Given the description of an element on the screen output the (x, y) to click on. 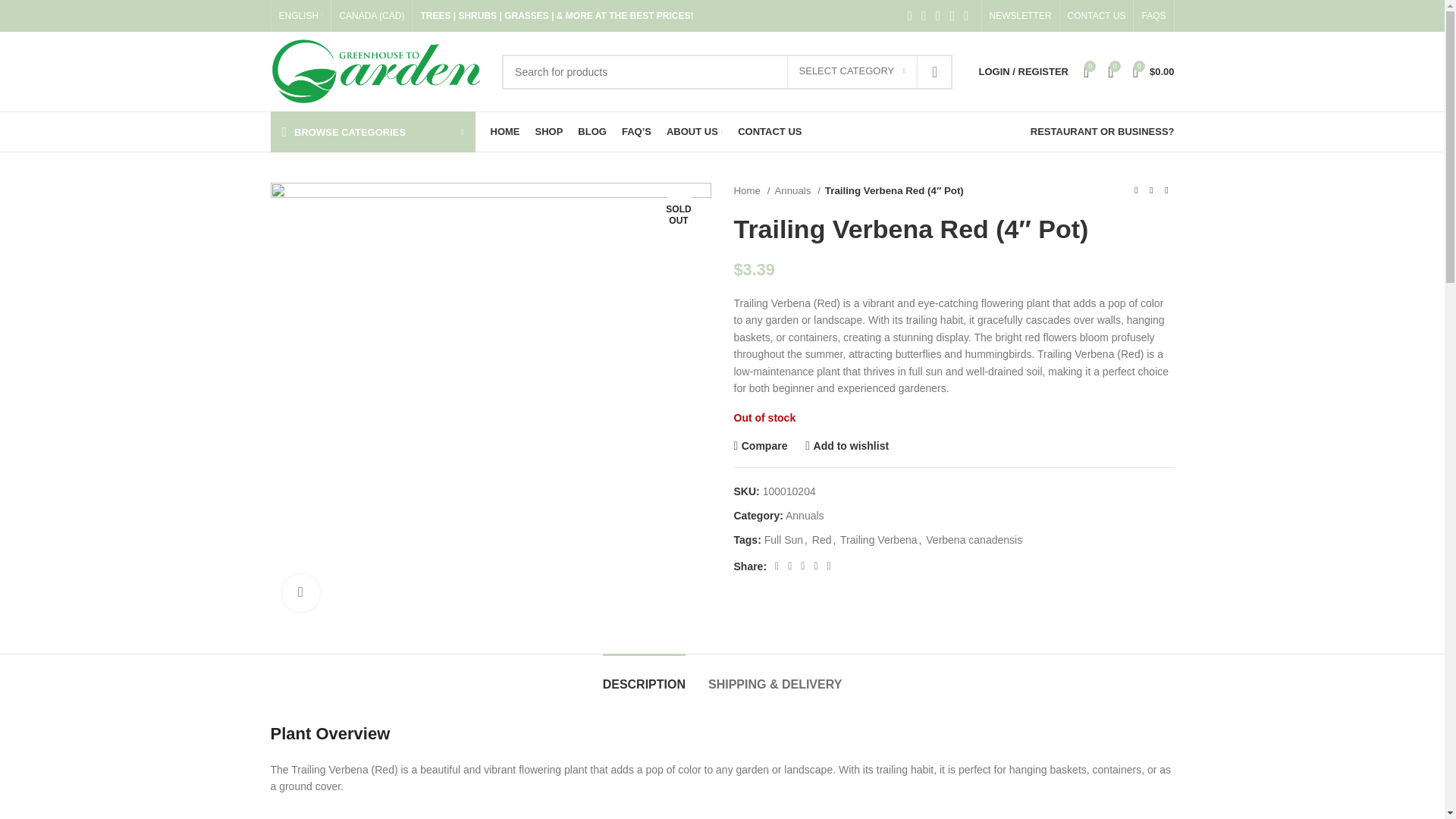
CONTACT US (1096, 15)
Search for products (727, 71)
My account (1023, 71)
Shopping cart (1153, 71)
SELECT CATEGORY (852, 71)
NEWSLETTER (1020, 15)
SELECT CATEGORY (852, 71)
ENGLISH (301, 15)
